Given the description of an element on the screen output the (x, y) to click on. 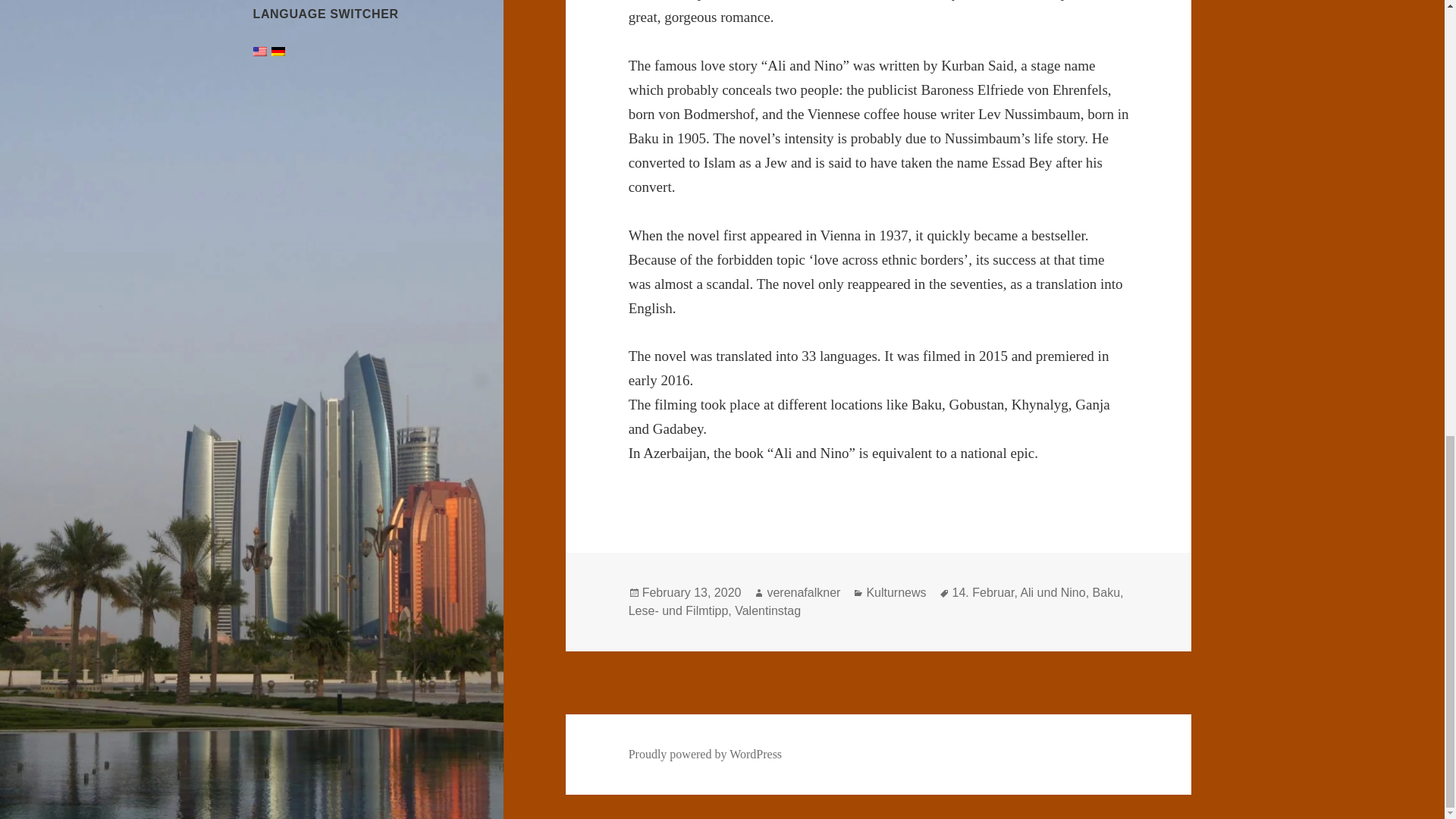
Lese- und Filmtipp (678, 611)
Kulturnews (896, 592)
Proudly powered by WordPress (704, 754)
14. Februar (983, 592)
WordPress Cookie Plugin by Real Cookie Banner (143, 806)
verenafalkner (803, 592)
Ali und Nino (1052, 592)
February 13, 2020 (691, 592)
Valentinstag (767, 611)
Baku (1106, 592)
